Given the description of an element on the screen output the (x, y) to click on. 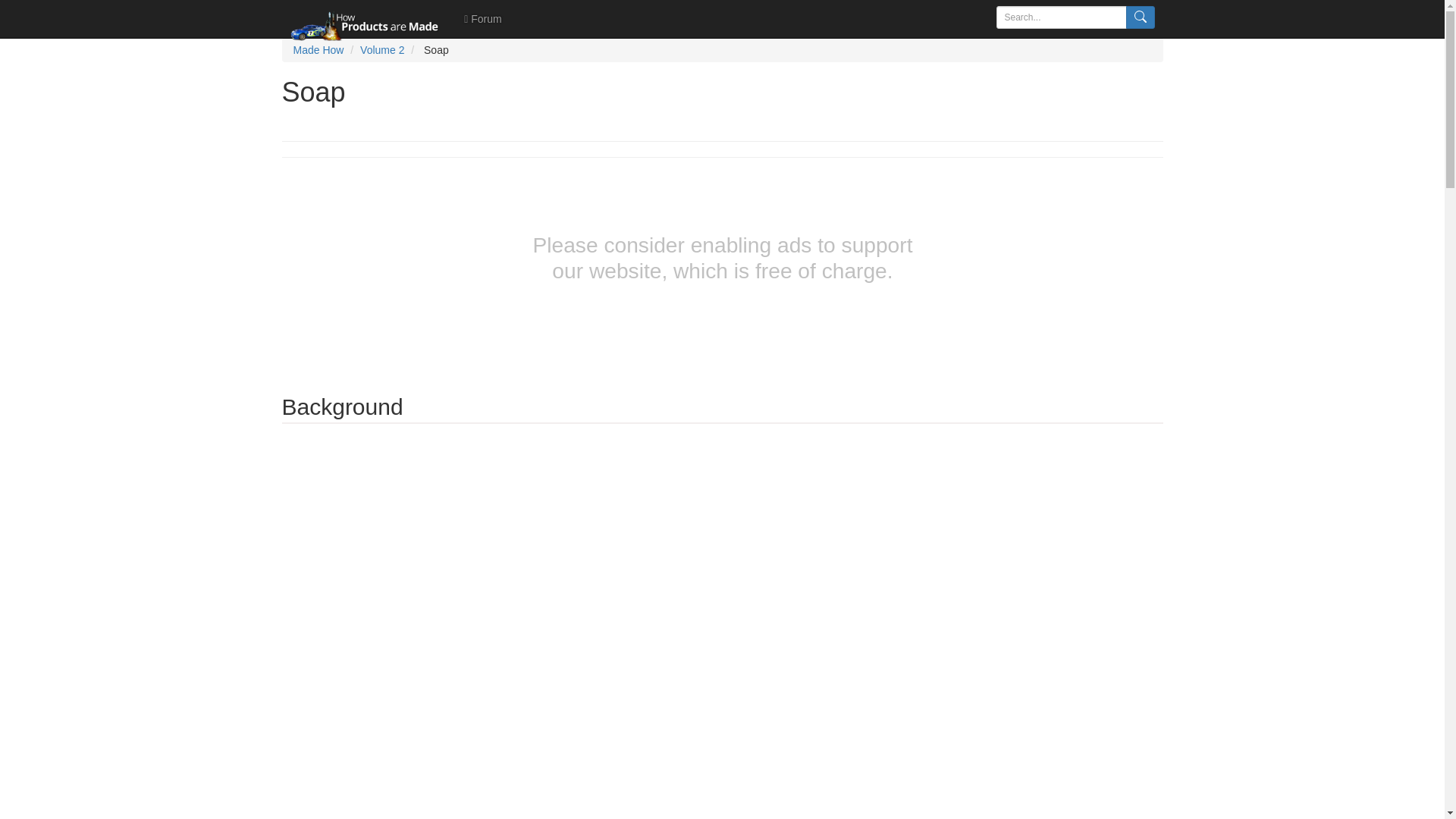
Visit Science and Technology Forum (482, 18)
Made How (317, 50)
Forum (482, 18)
Volume 2 (381, 50)
